Given the description of an element on the screen output the (x, y) to click on. 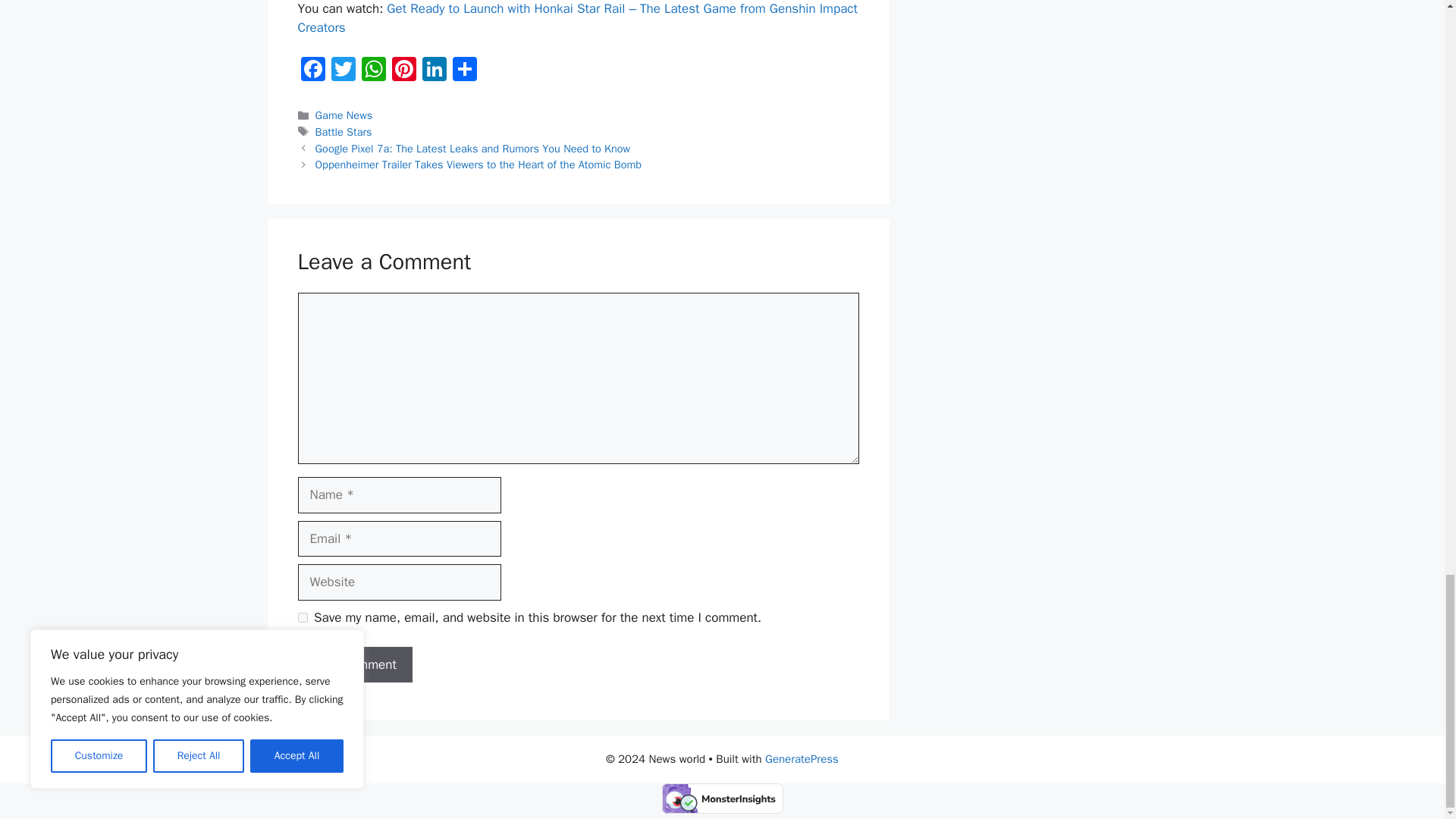
Post Comment (354, 665)
LinkedIn (433, 70)
yes (302, 617)
WhatsApp (373, 70)
Verified by MonsterInsights (722, 798)
Twitter (342, 70)
Pinterest (403, 70)
Facebook (312, 70)
